Given the description of an element on the screen output the (x, y) to click on. 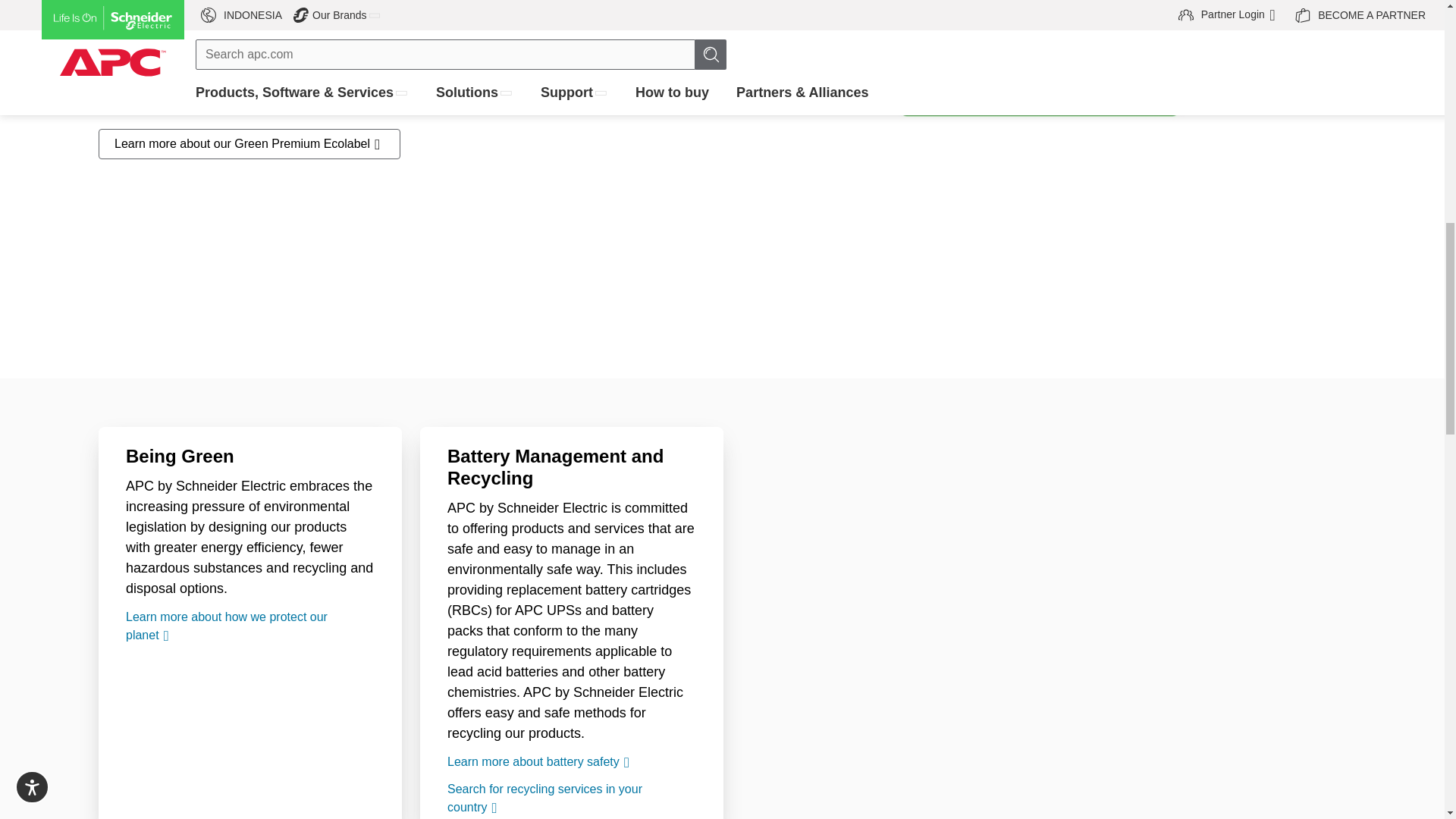
Learn more about how we protect our planet (249, 626)
Search for recycling services in your country (570, 797)
Learn more about battery safety (570, 761)
Learn more about our Green Premium Ecolabel (249, 143)
